Given the description of an element on the screen output the (x, y) to click on. 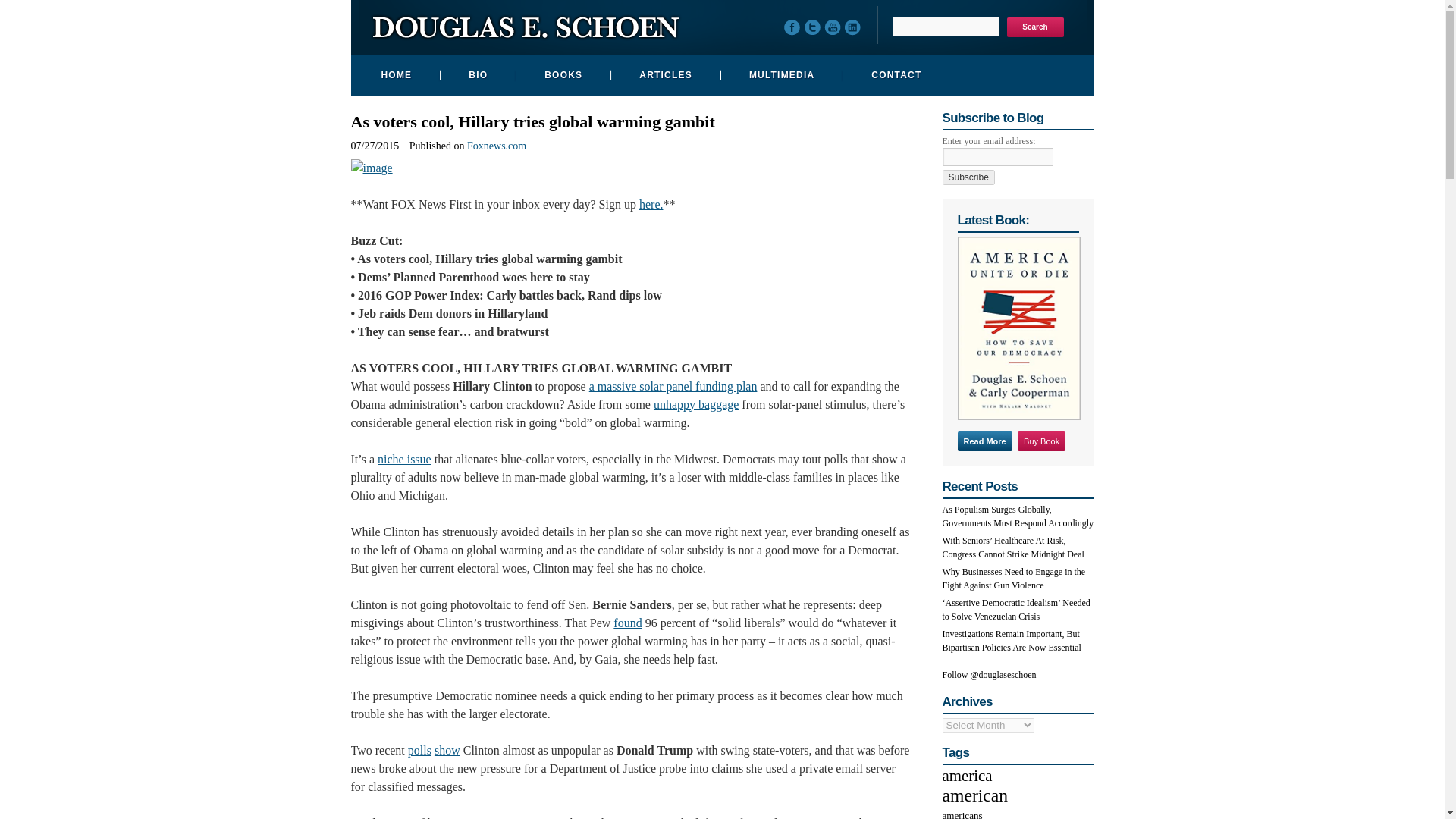
here. (651, 204)
Subscribe (968, 177)
found (627, 622)
Linked In (854, 29)
niche issue (403, 459)
HOME (394, 75)
CONTACT (894, 75)
Twitter (813, 29)
MULTIMEDIA (780, 75)
Douglas E. Schoen (524, 33)
YouTube (835, 29)
Search (1035, 26)
BIO (475, 75)
Foxnews.com (496, 145)
ARTICLES (663, 75)
